Given the description of an element on the screen output the (x, y) to click on. 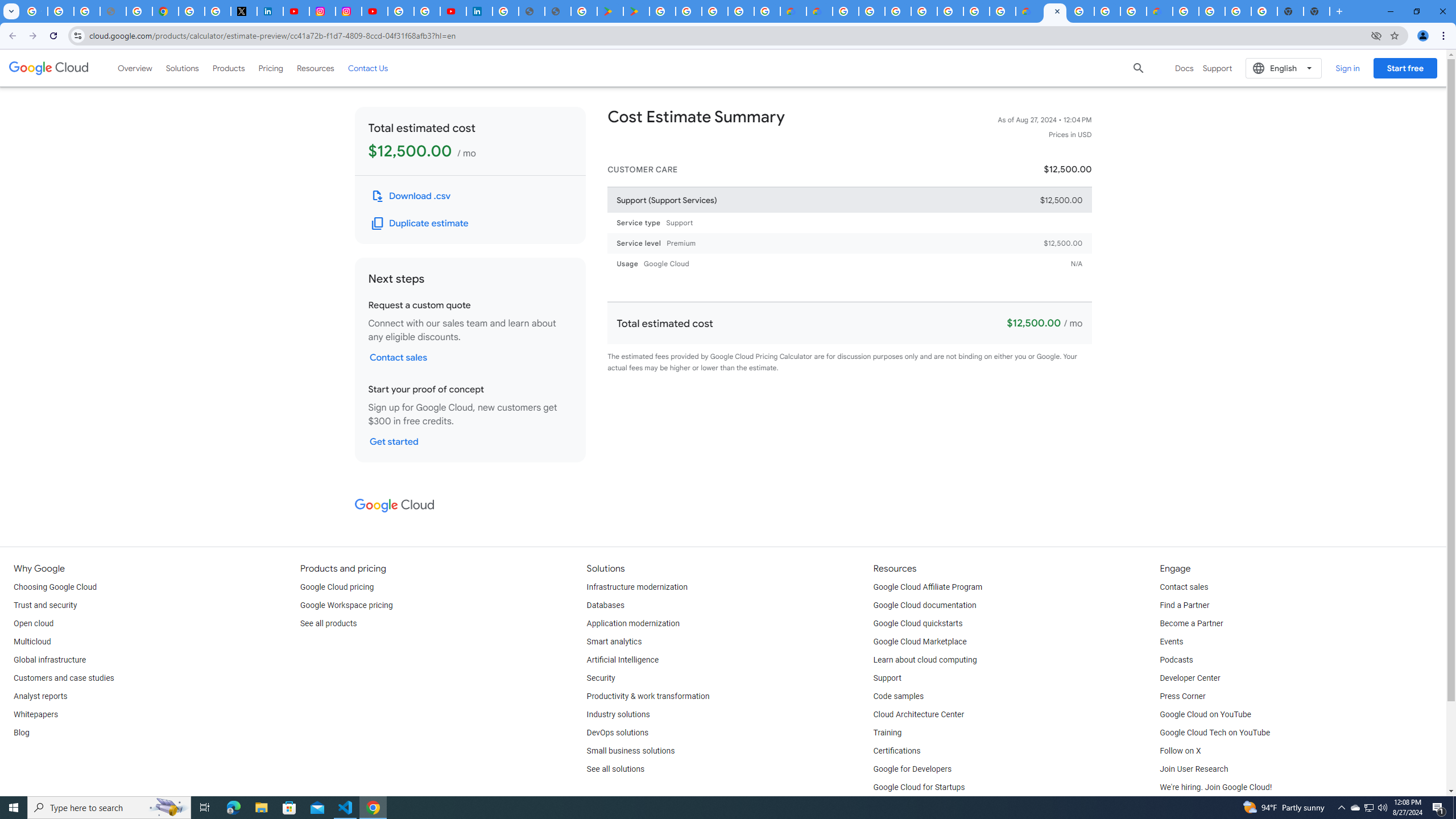
Privacy Help Center - Policies Help (138, 11)
Press Corner (1181, 696)
Resources (314, 67)
Code samples (898, 696)
Google Cloud Platform (1080, 11)
Browse Chrome as a guest - Computer - Google Chrome Help (1133, 11)
Small business solutions (630, 751)
